Given the description of an element on the screen output the (x, y) to click on. 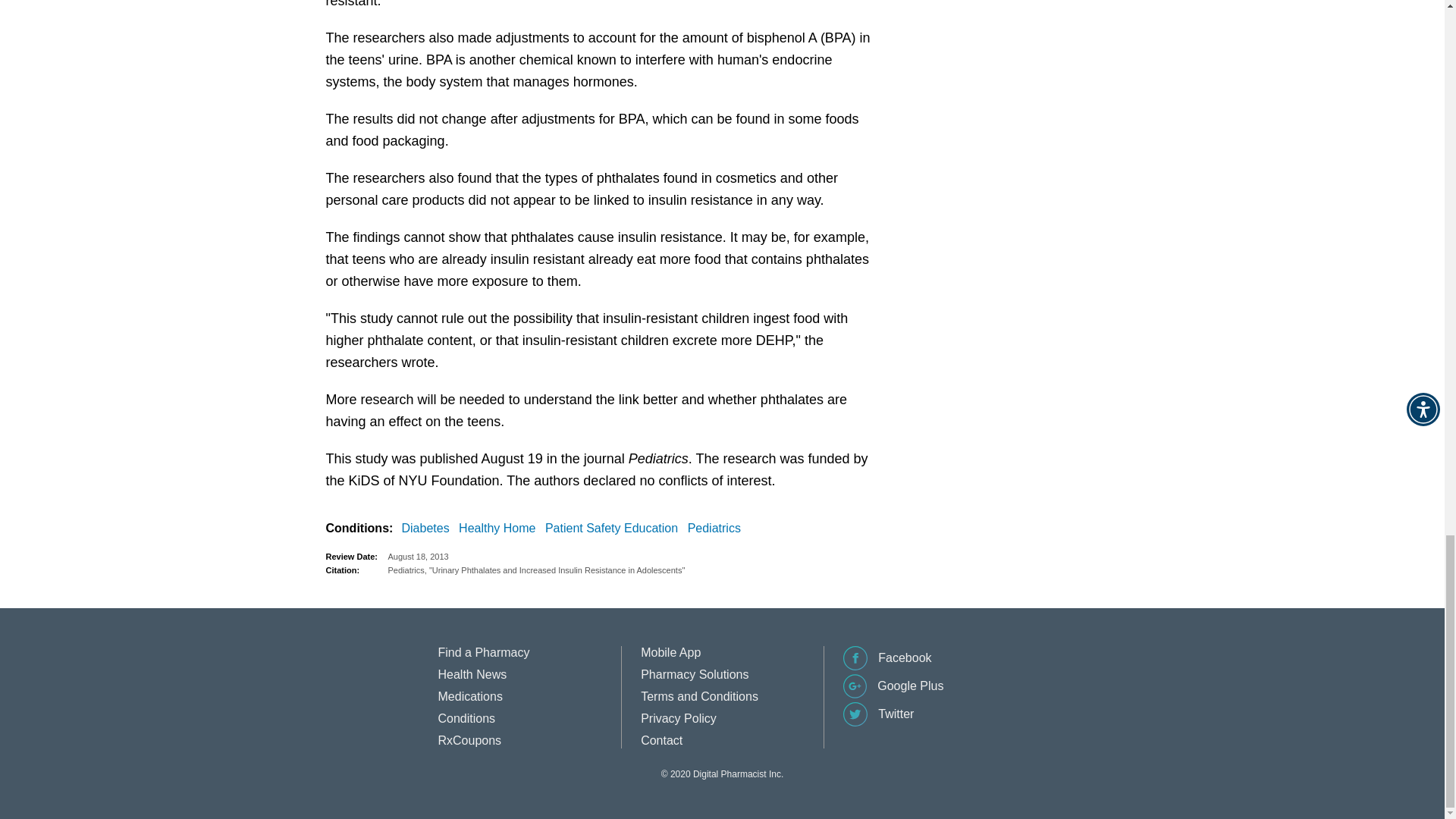
Diabetes (428, 528)
Pediatrics (716, 528)
Patient Safety Education (614, 528)
Healthy Home (499, 528)
